Given the description of an element on the screen output the (x, y) to click on. 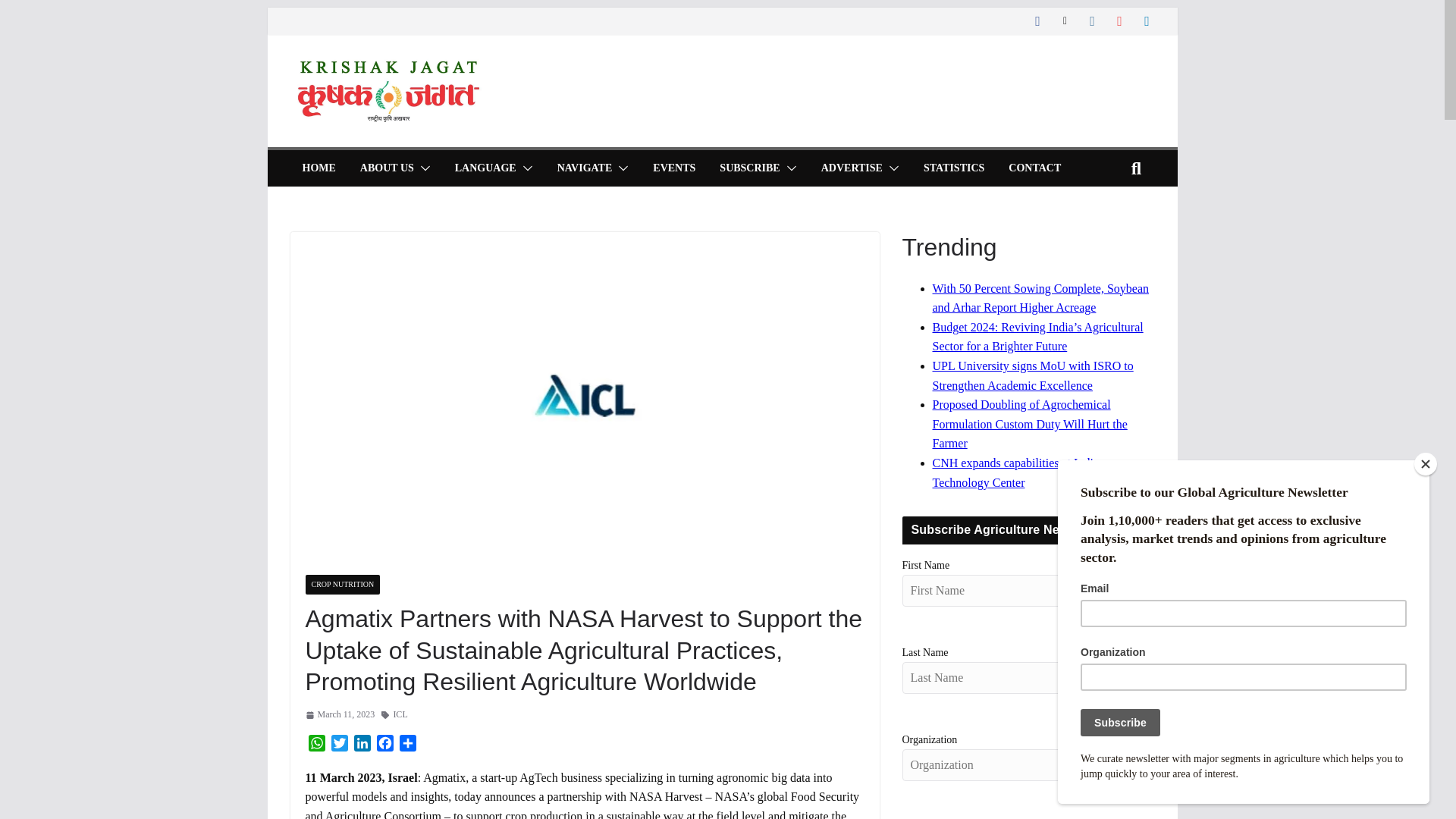
SUBSCRIBE (748, 168)
10:13 pm (339, 714)
Twitter (338, 744)
ADVERTISE (851, 168)
NAVIGATE (584, 168)
HOME (317, 168)
WhatsApp (315, 744)
LinkedIn (361, 744)
EVENTS (673, 168)
LANGUAGE (485, 168)
Facebook (384, 744)
ABOUT US (386, 168)
